Given the description of an element on the screen output the (x, y) to click on. 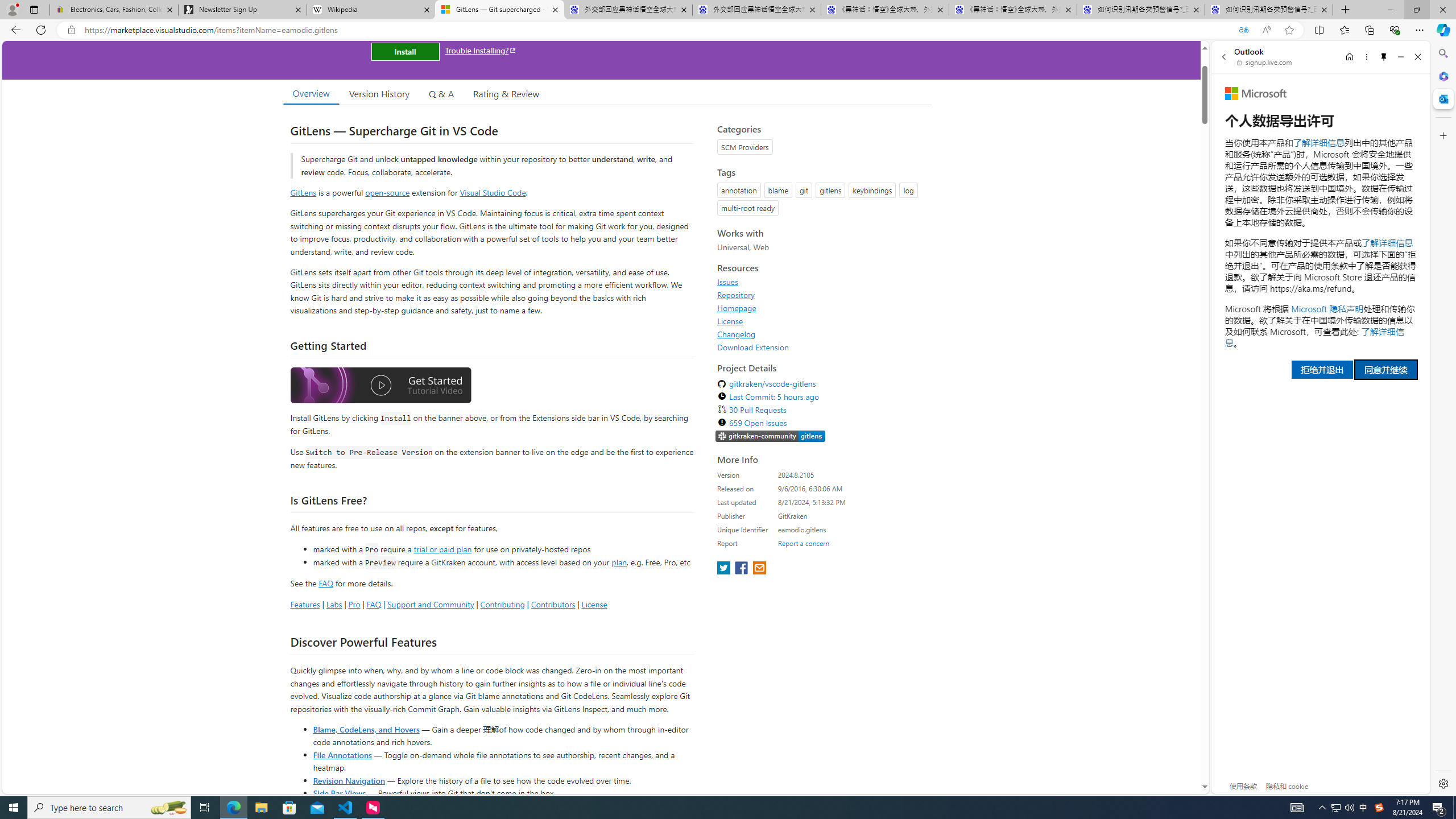
Issues (727, 281)
Visual Studio Code (492, 192)
Homepage (737, 307)
